Given the description of an element on the screen output the (x, y) to click on. 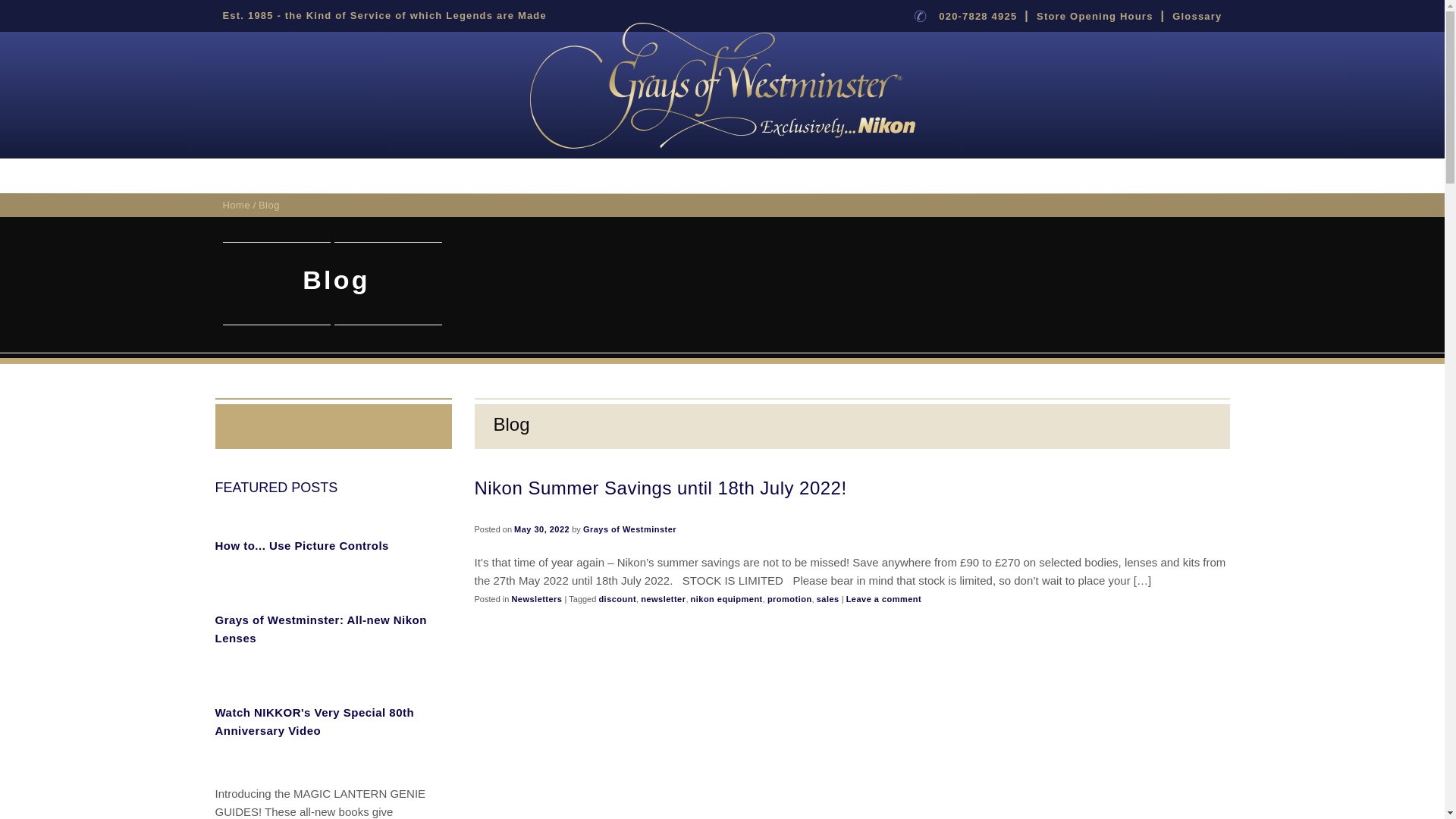
View all posts by Grays of Westminster (630, 528)
Permalink to Nikon Summer Savings until 18th July 2022! (660, 487)
Glossary (1196, 16)
2:32 pm (541, 528)
Store Opening Hours (1094, 16)
020-7828 4925 (977, 16)
